Given the description of an element on the screen output the (x, y) to click on. 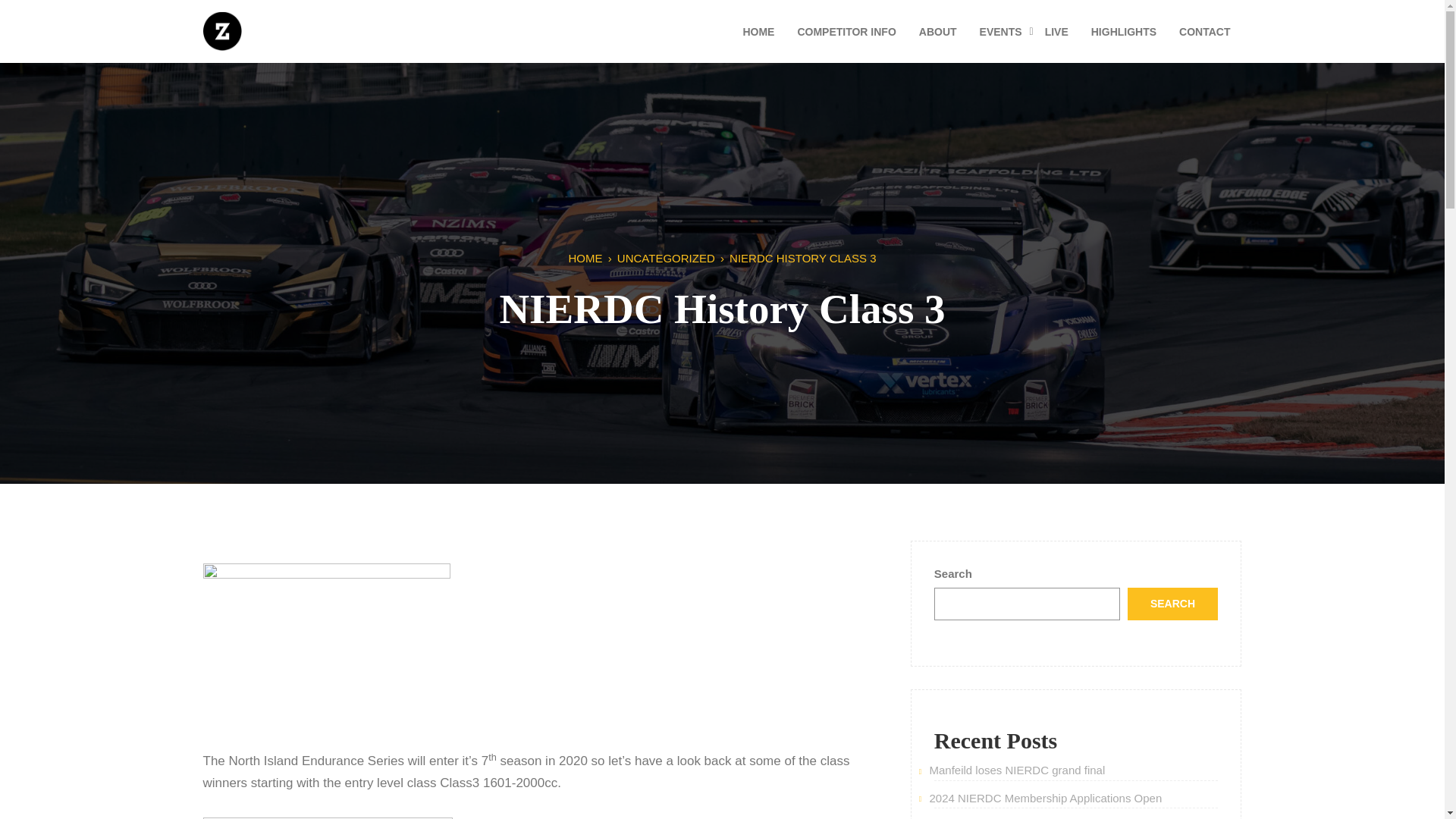
EVENTS (1000, 31)
HOME (585, 257)
UNCATEGORIZED (665, 257)
COMPETITOR INFO (846, 31)
ABOUT (937, 31)
SEARCH (1171, 604)
CONTACT (1204, 31)
2024 NIERDC Membership Applications Open (1044, 797)
HIGHLIGHTS (1123, 31)
Manfeild loses NIERDC grand final (1016, 769)
